Given the description of an element on the screen output the (x, y) to click on. 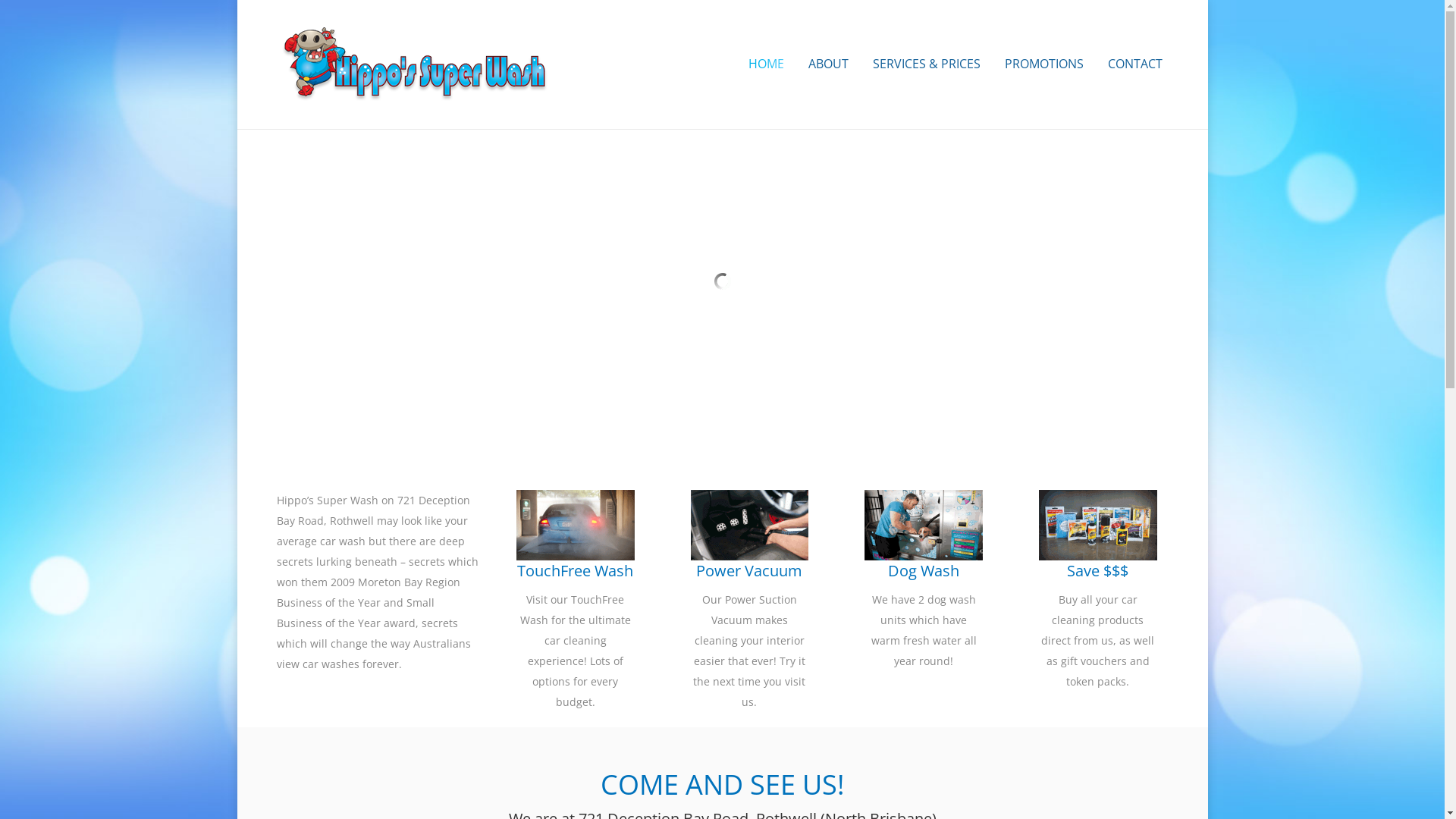
CONTACT Element type: text (1135, 64)
SERVICES & PRICES Element type: text (926, 64)
image2 Element type: hover (749, 524)
HOME Element type: text (765, 64)
PROMOTIONS Element type: text (1044, 64)
image4 Element type: hover (923, 524)
image1 Element type: hover (575, 524)
image3 Element type: hover (1097, 524)
ABOUT Element type: text (827, 64)
